Given the description of an element on the screen output the (x, y) to click on. 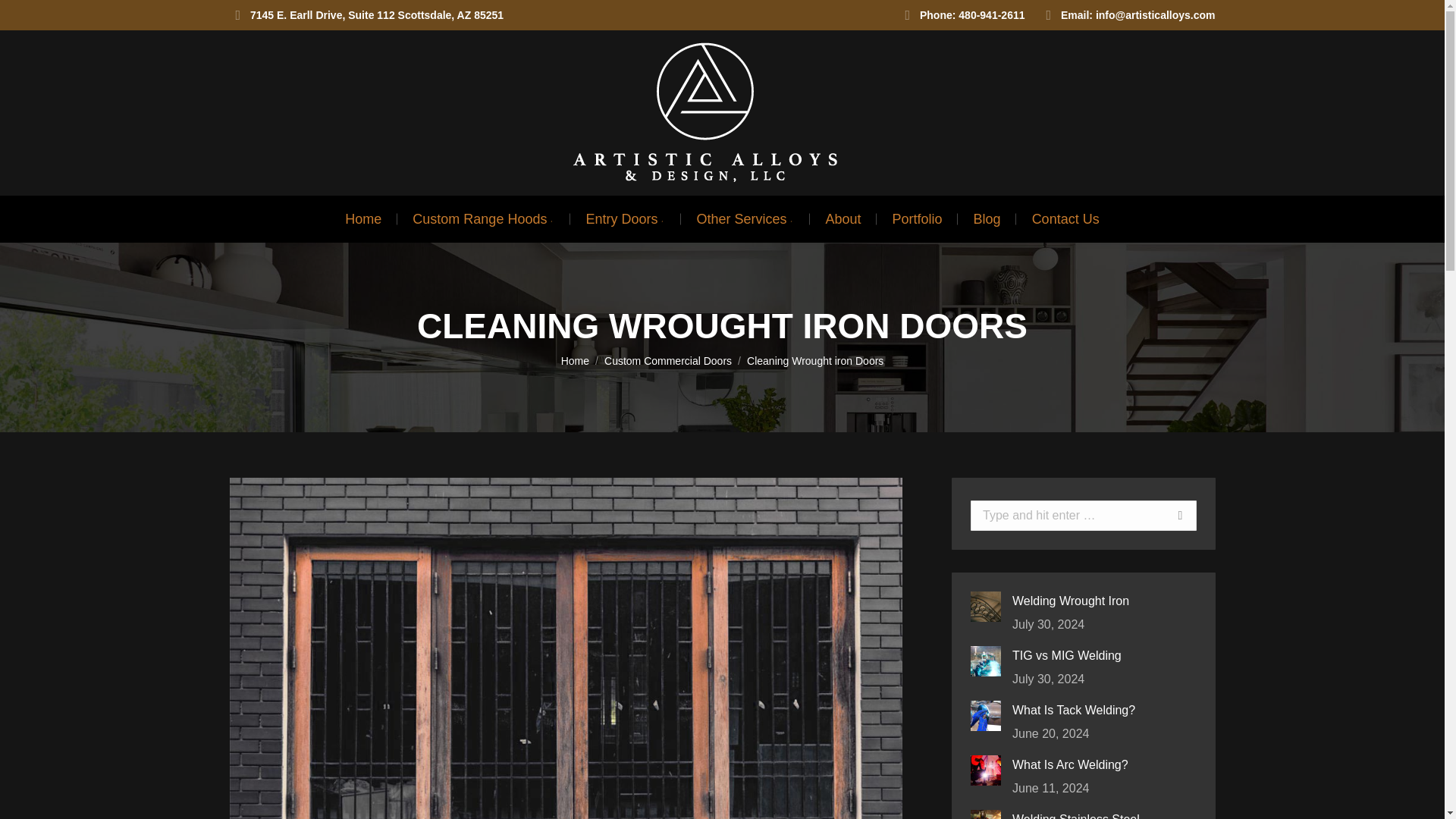
Blog (987, 218)
Custom Commercial Doors (668, 360)
Go! (1164, 515)
Contact Us (1065, 218)
Custom Range Hoods (483, 218)
Other Services (745, 218)
Go! (1164, 515)
Portfolio (917, 218)
Home (363, 218)
Entry Doors (624, 218)
Home (574, 360)
About (842, 218)
Phone: 480-941-2611 (961, 14)
